Given the description of an element on the screen output the (x, y) to click on. 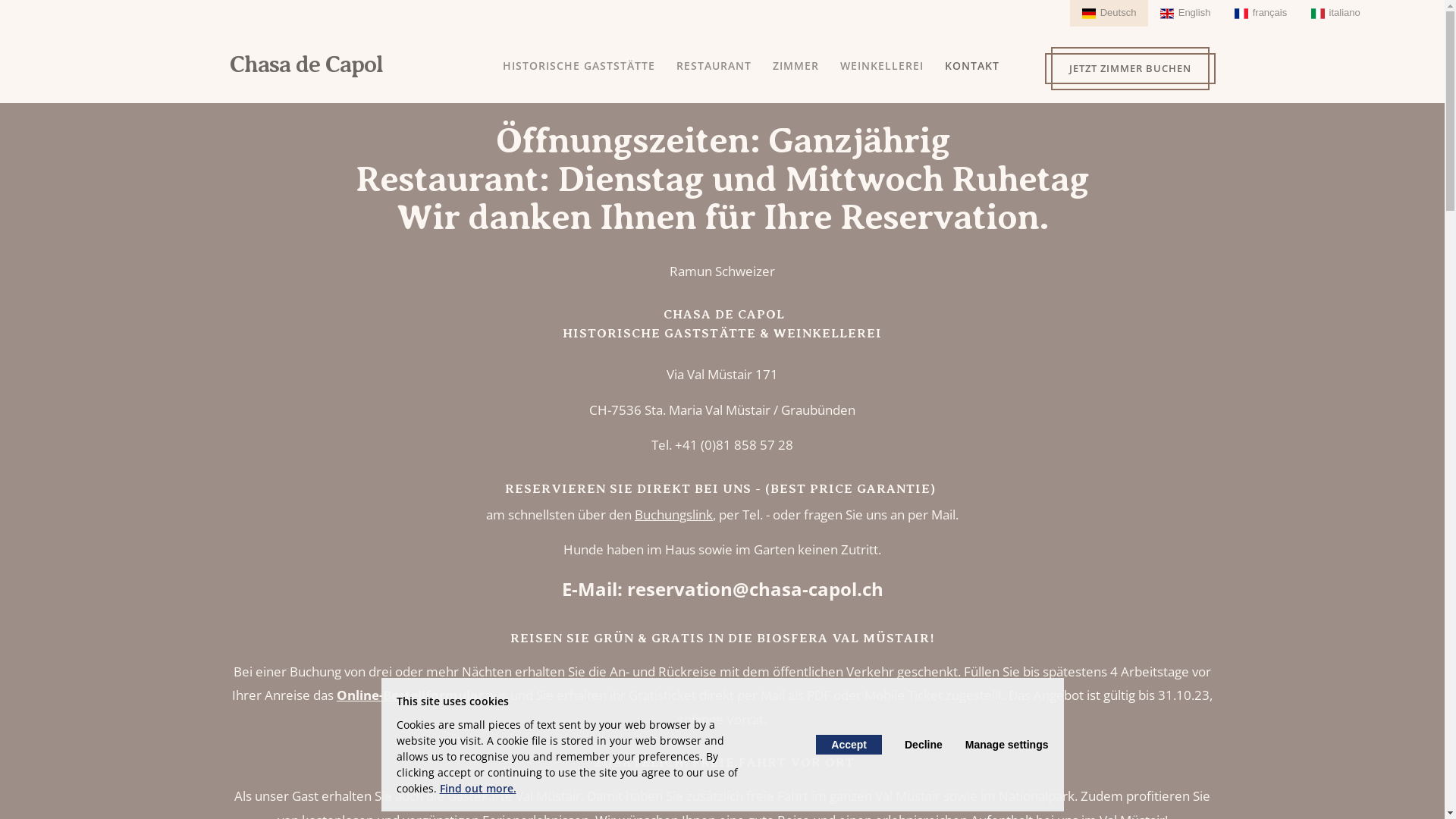
RESTAURANT Element type: text (713, 65)
italiano Element type: text (1335, 13)
Find out more. Element type: text (477, 788)
Buchungslink Element type: text (673, 514)
Manage settings Element type: text (1006, 744)
Decline Element type: text (923, 744)
Online-Bestellformular Element type: text (409, 694)
KONTAKT Element type: text (971, 65)
JETZT ZIMMER BUCHEN Element type: text (1129, 68)
Accept Element type: text (848, 744)
ZIMMER Element type: text (794, 65)
Deutsch Element type: text (1109, 13)
English Element type: text (1185, 13)
Chasa de Capol Element type: text (305, 64)
WEINKELLEREI Element type: text (881, 65)
